Given the description of an element on the screen output the (x, y) to click on. 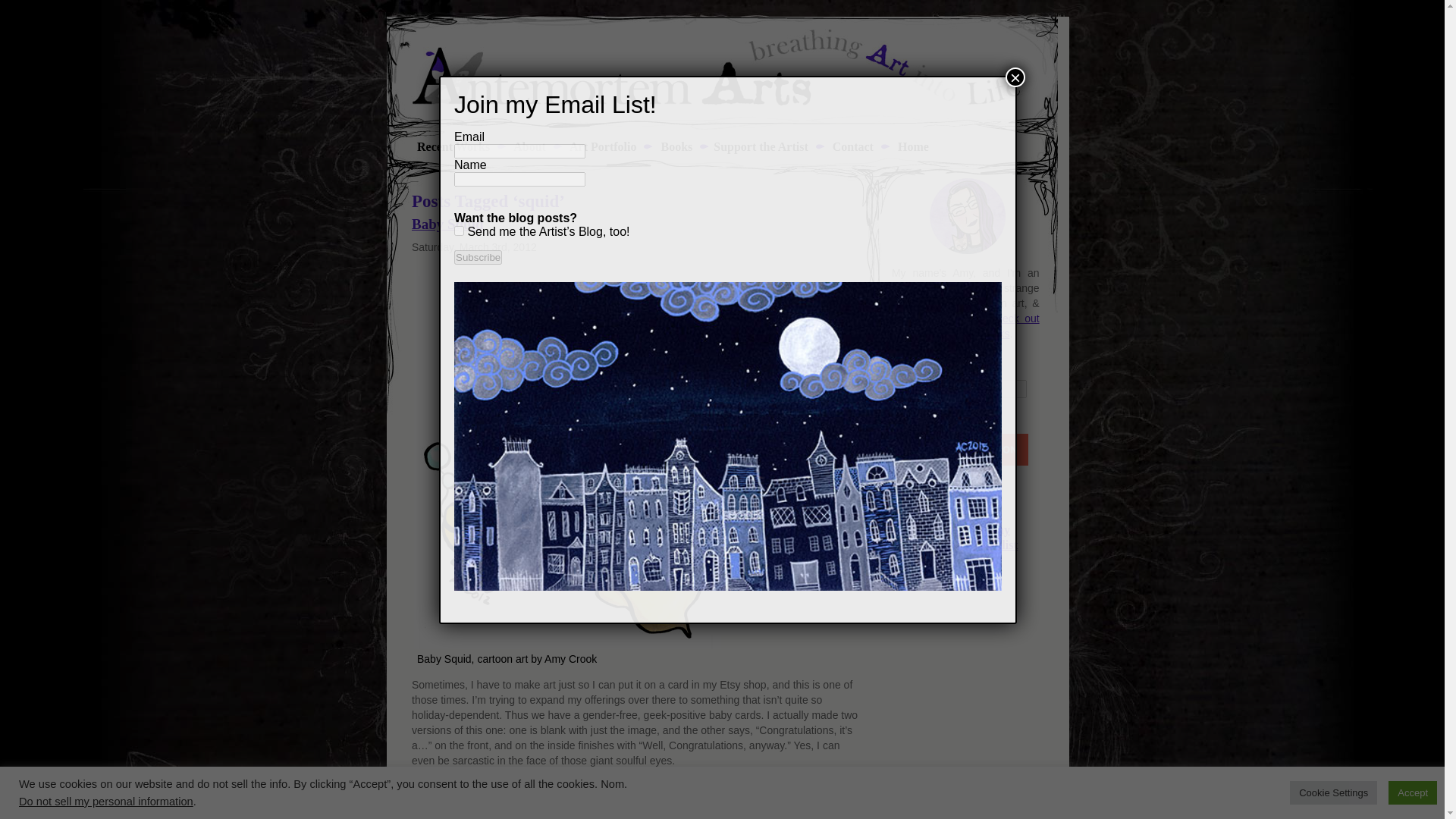
Talk to Me (851, 146)
Subscribe (478, 257)
 Books (675, 146)
 Contact (851, 146)
Baby Squid (447, 223)
Search (916, 416)
 Art Portfolio (602, 146)
   Recent Works (448, 146)
Home (911, 146)
Art Portfolio (602, 146)
Permanent Link to Baby Squid (447, 223)
About the Artist (528, 146)
Art Blog (448, 146)
Myriad Ways to be Awesome (760, 146)
 About (528, 146)
